Given the description of an element on the screen output the (x, y) to click on. 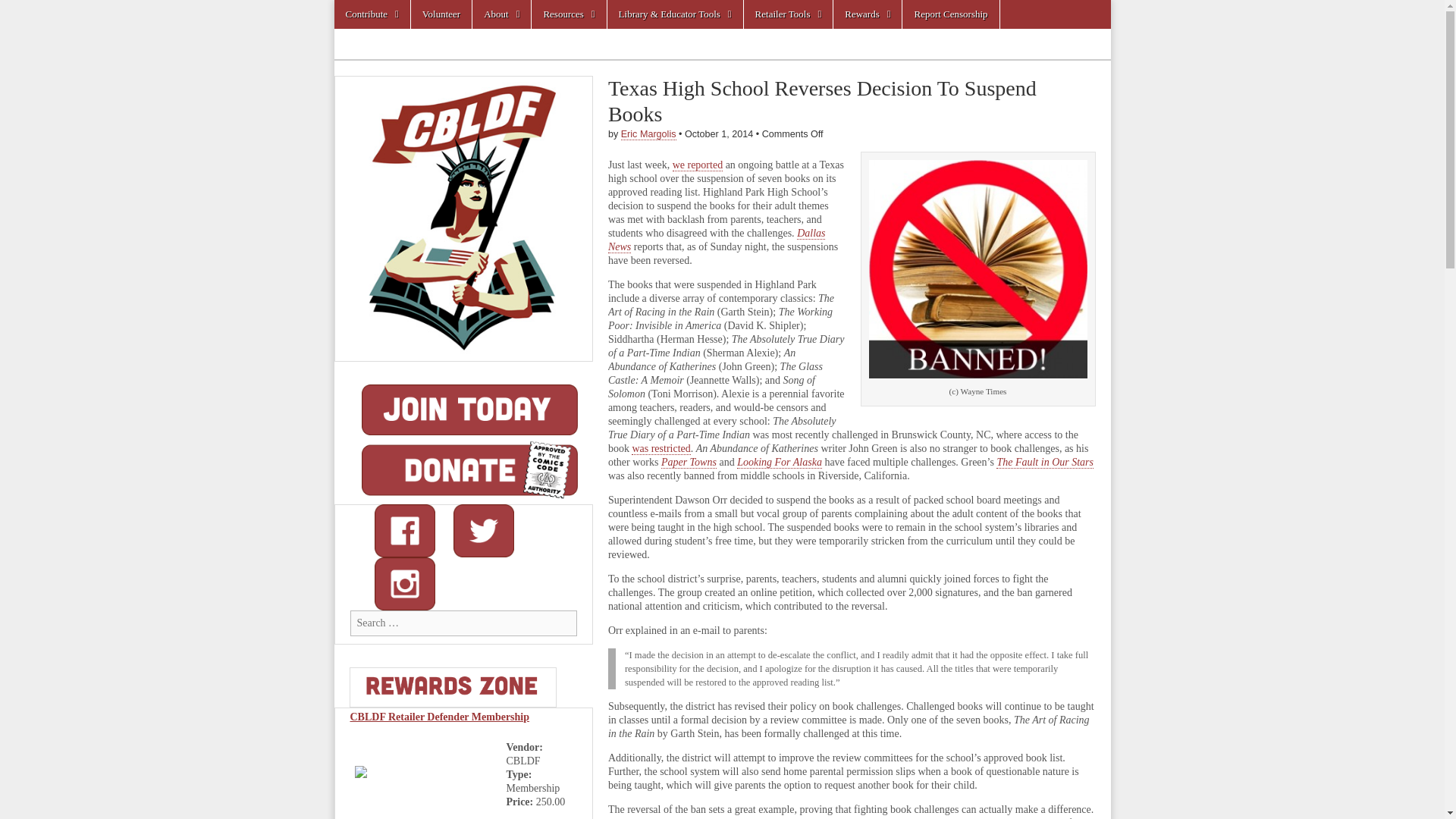
Volunteer (440, 14)
About (501, 14)
Retail Tools (788, 14)
Posts by Eric Margolis (649, 134)
Resources (568, 14)
Contribute (371, 14)
